Given the description of an element on the screen output the (x, y) to click on. 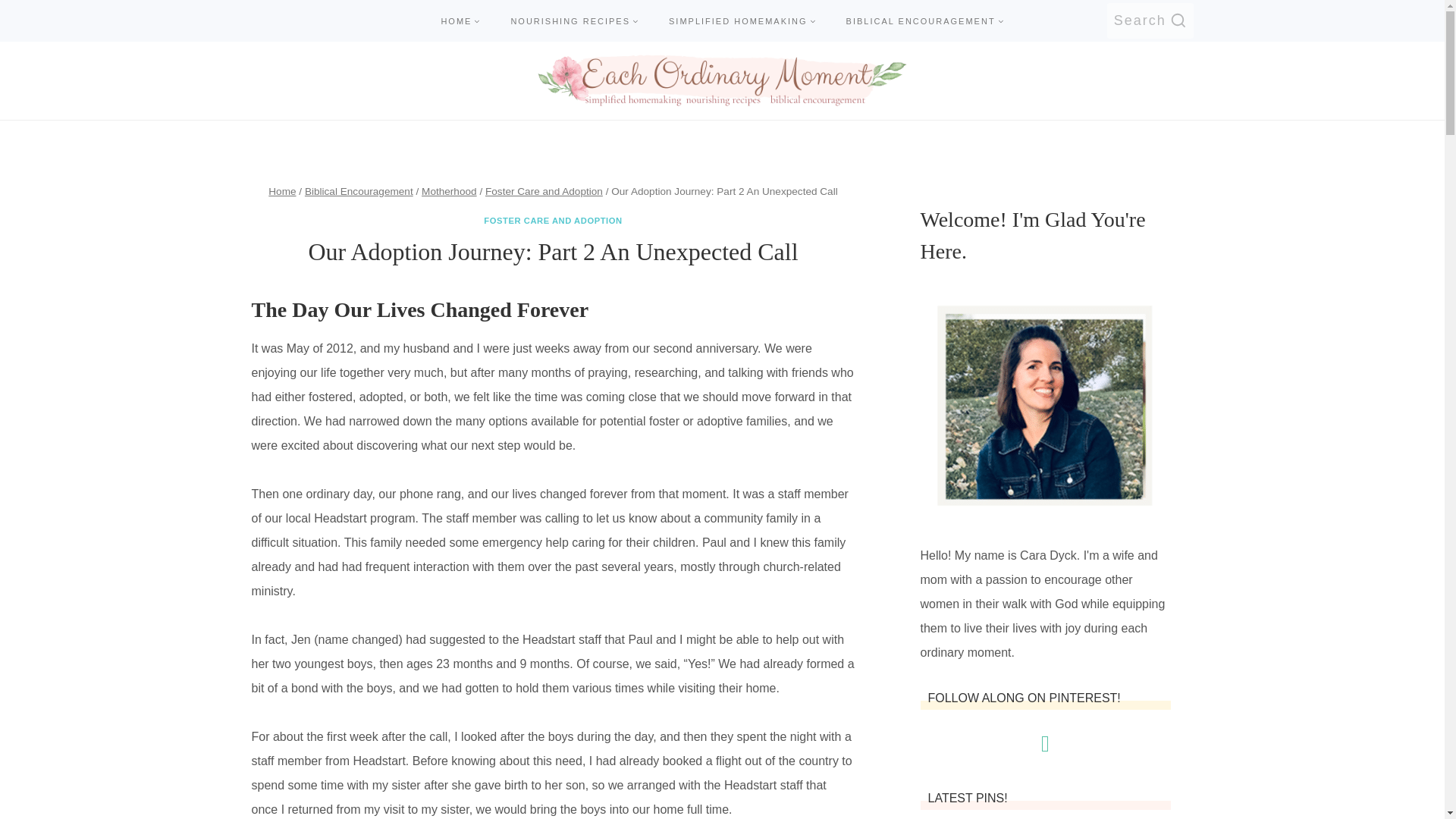
Motherhood (449, 191)
BIBLICAL ENCOURAGEMENT (925, 20)
FOSTER CARE AND ADOPTION (552, 220)
Home (281, 191)
Foster Care and Adoption (543, 191)
Search (1149, 20)
HOME (460, 20)
Biblical Encouragement (358, 191)
SIMPLIFIED HOMEMAKING (742, 20)
NOURISHING RECIPES (574, 20)
